Given the description of an element on the screen output the (x, y) to click on. 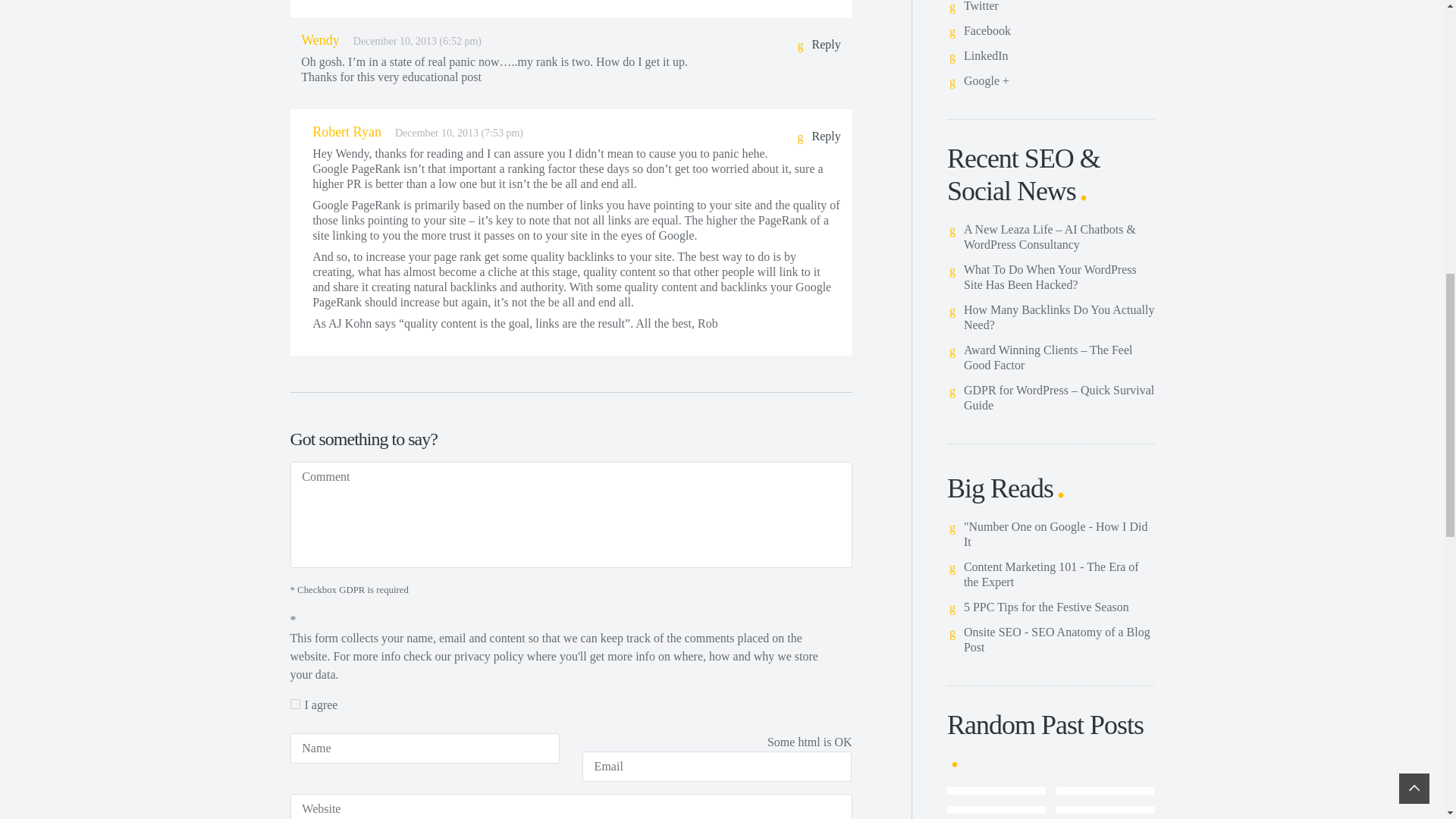
Wendy (320, 39)
Number One on Google - How I Did It (1055, 533)
5 PPC Tips for the Festive Season (1046, 606)
Facebook (986, 30)
What To Do When Your WordPress Site Has Been Hacked? (1050, 276)
Onsite SEO Tips (1056, 639)
How Many Backlinks Do You Actually Need? (1058, 317)
WordPress Mafia Facebook (986, 30)
LinkedIn (986, 55)
Reply (817, 45)
